Given the description of an element on the screen output the (x, y) to click on. 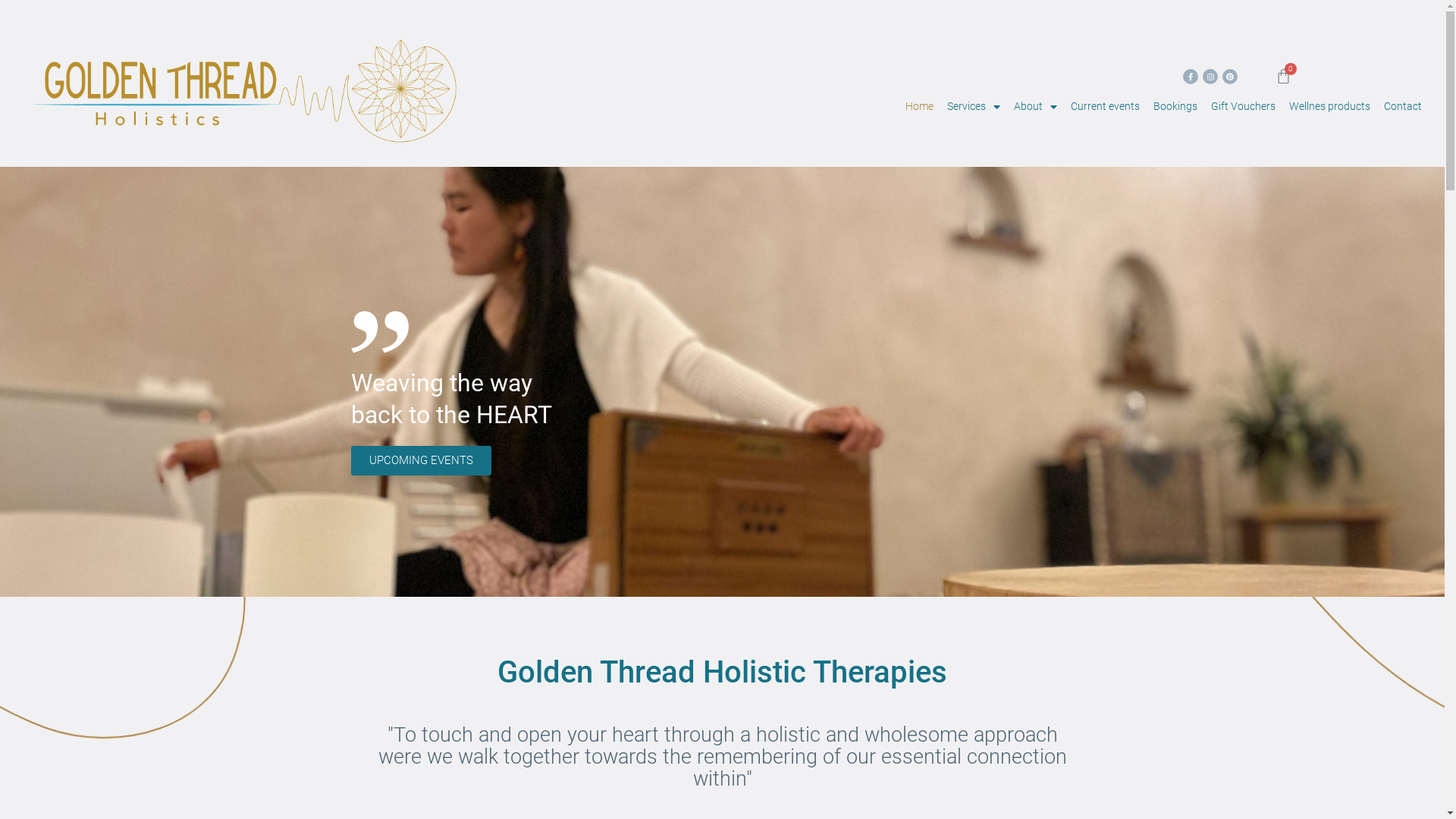
Gift Vouchers Element type: text (1243, 106)
UPCOMING EVENTS Element type: text (420, 460)
Services Element type: text (973, 106)
Bookings Element type: text (1175, 106)
Current events Element type: text (1104, 106)
quote-1 Element type: hover (378, 331)
About Element type: text (1035, 106)
Home Element type: text (919, 106)
Wellnes products Element type: text (1329, 106)
Contact Element type: text (1402, 106)
